Given the description of an element on the screen output the (x, y) to click on. 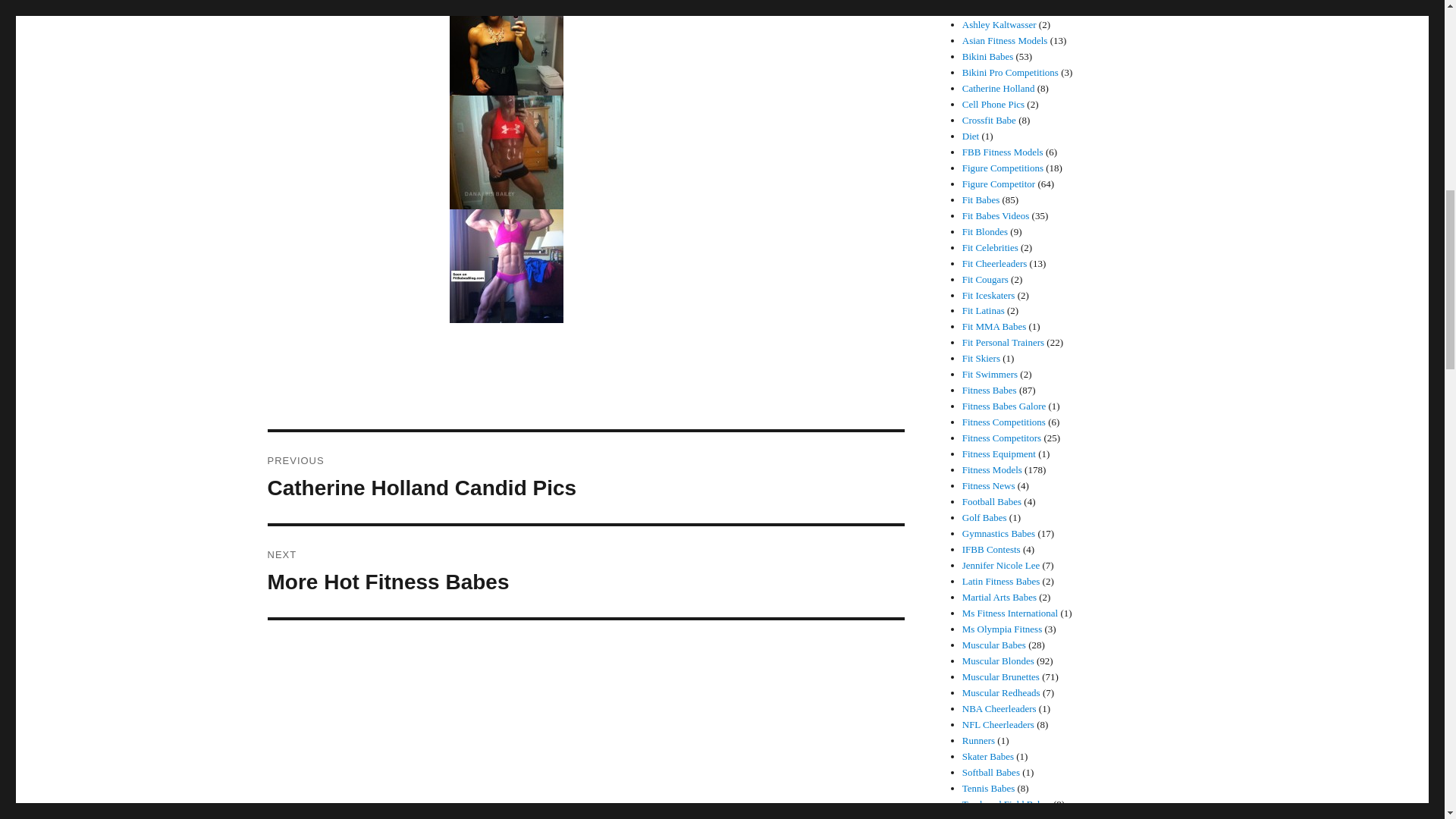
Asian Fitness Models (1005, 40)
Cell Phone Pics (993, 103)
Fit Iceskaters (988, 295)
Diet (585, 571)
Crossfit Babe (970, 135)
Ashley Kaltwasser (989, 120)
Fit Latinas (999, 24)
Bikini Babes (983, 310)
Figure Competitions (987, 56)
Fit MMA Babes (1002, 167)
Fit Cougars (994, 326)
Amazing Abs (985, 279)
Fit Cheerleaders (989, 8)
Fit Swimmers (994, 263)
